Given the description of an element on the screen output the (x, y) to click on. 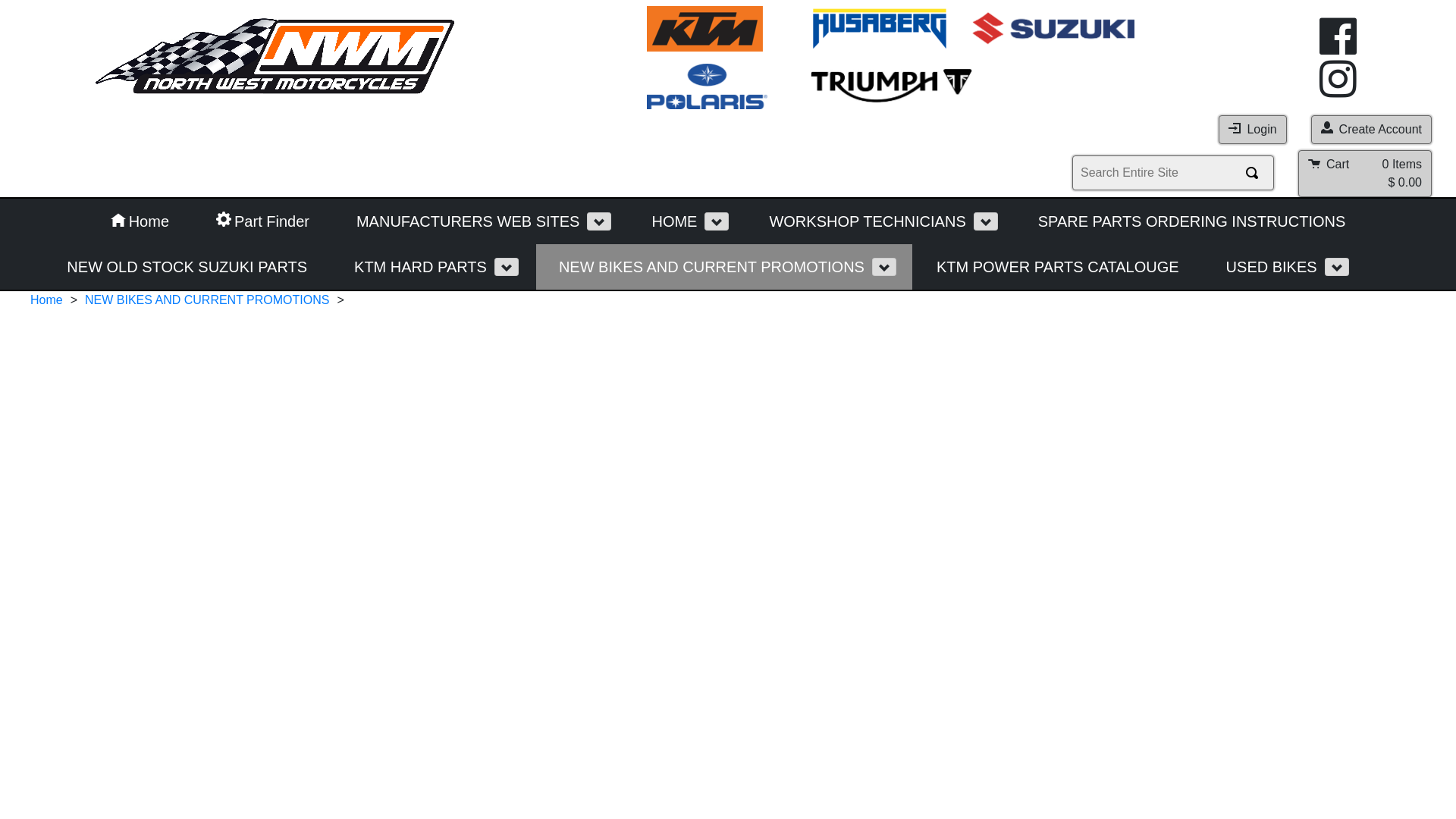
Part Finder Element type: text (262, 221)
Home Element type: text (139, 221)
SPARE PARTS ORDERING INSTRUCTIONS Element type: text (1191, 221)
Create Account Element type: text (1371, 129)
Login Element type: text (1252, 129)
Home Element type: text (46, 299)
HOME Element type: text (666, 221)
NEW OLD STOCK SUZUKI PARTS Element type: text (186, 266)
NEW BIKES AND CURRENT PROMOTIONS Element type: text (704, 266)
KTM POWER PARTS CATALOUGE Element type: text (1057, 266)
Cart
0
0.00 Element type: text (1364, 173)
USED BIKES Element type: text (1263, 266)
WORKSHOP TECHNICIANS Element type: text (859, 221)
MANUFACTURERS WEB SITES Element type: text (459, 221)
KTM HARD PARTS Element type: text (412, 266)
NEW BIKES AND CURRENT PROMOTIONS Element type: text (206, 299)
